Given the description of an element on the screen output the (x, y) to click on. 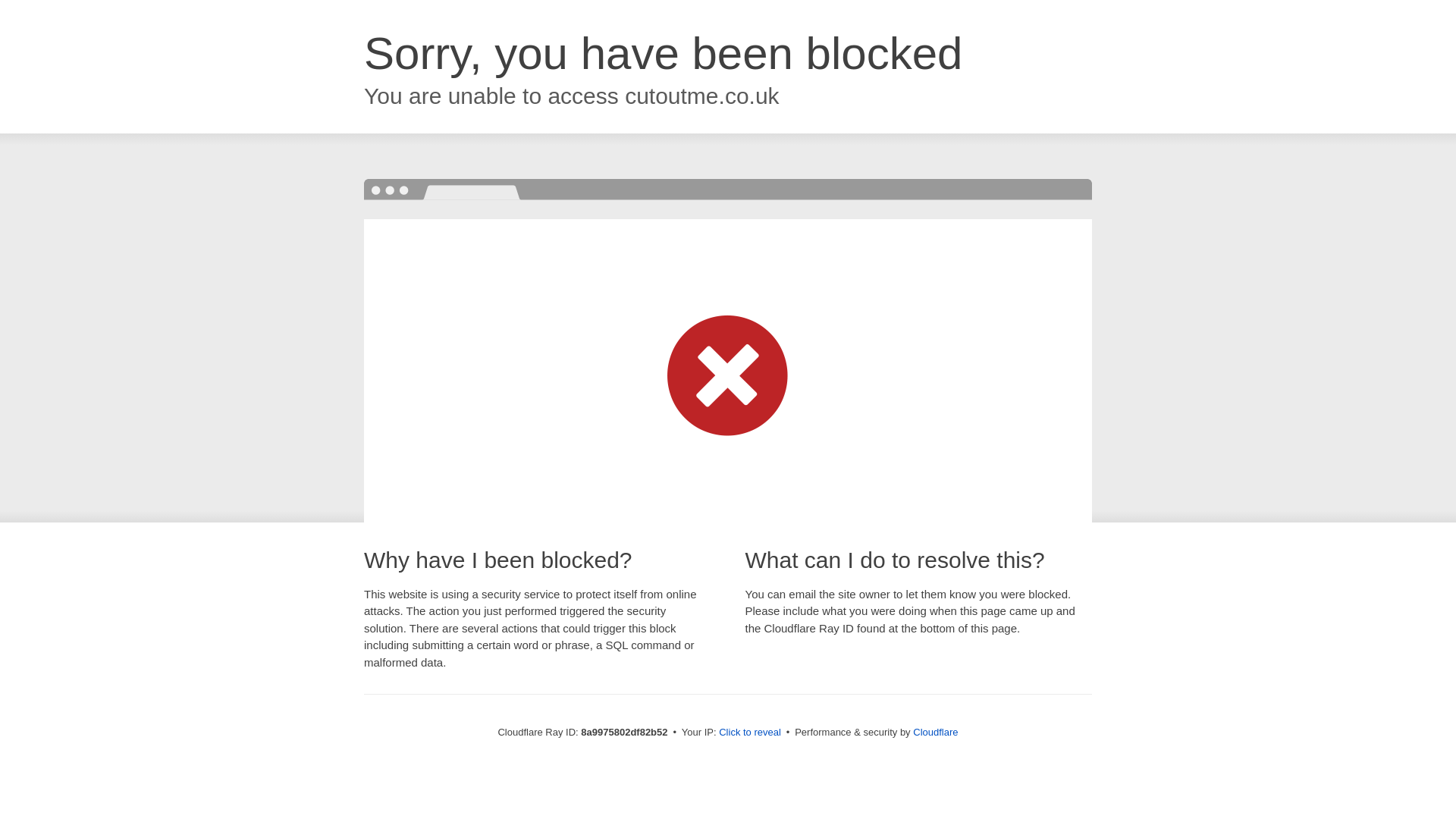
Cloudflare (935, 731)
Click to reveal (749, 732)
